Given the description of an element on the screen output the (x, y) to click on. 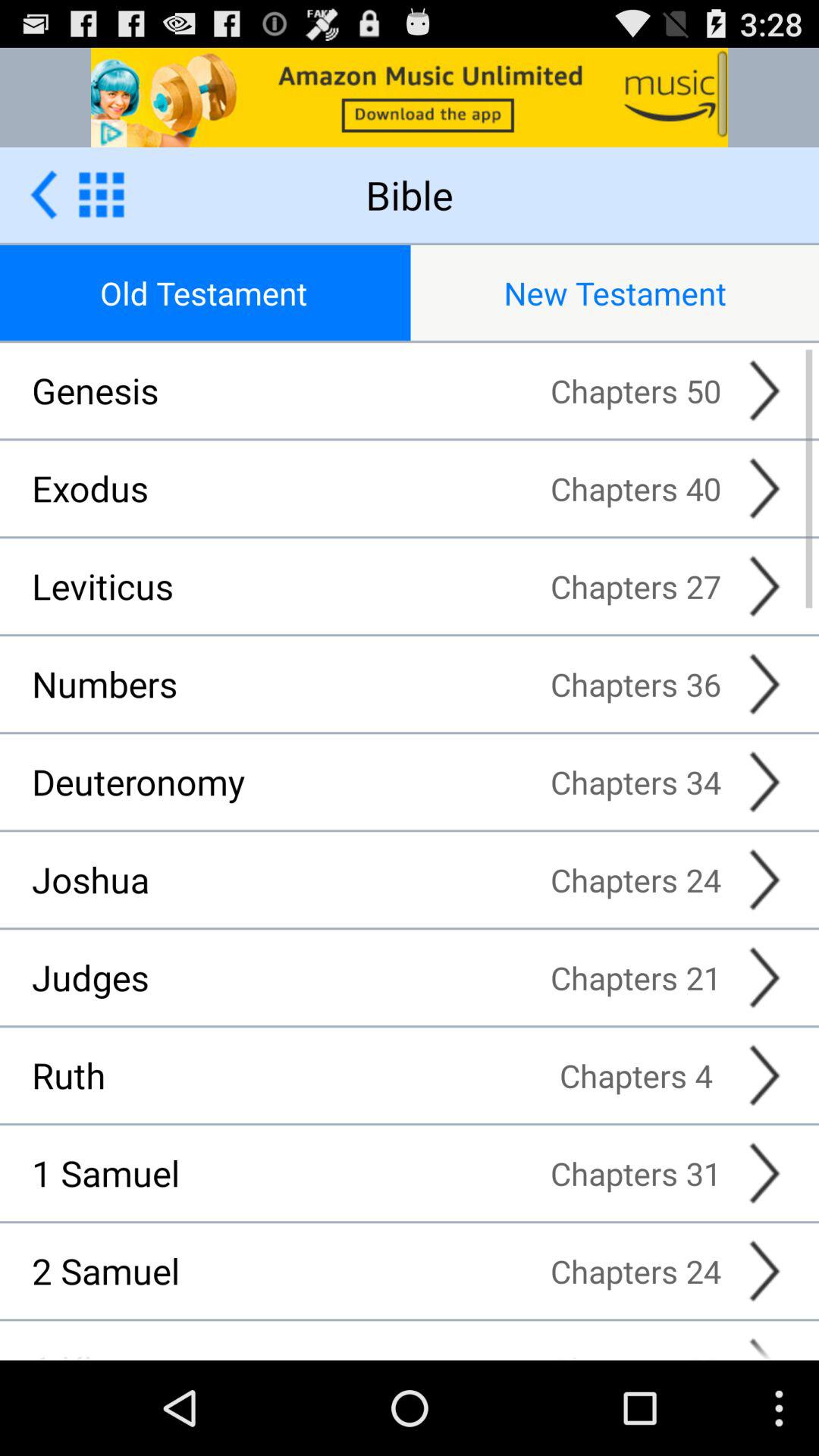
settings (101, 194)
